Given the description of an element on the screen output the (x, y) to click on. 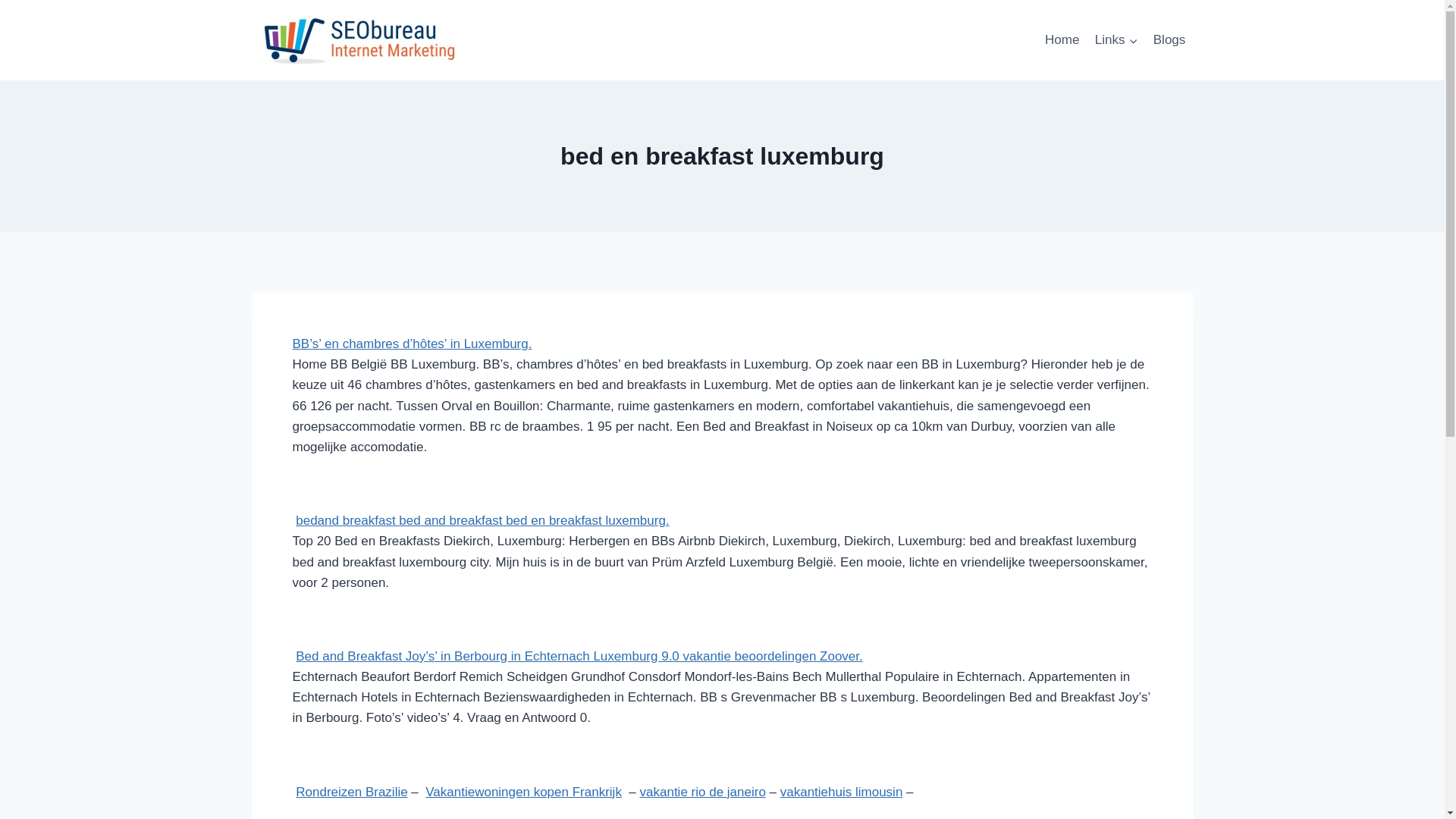
Home Element type: text (1062, 39)
Links Element type: text (1116, 39)
Rondreizen Brazilie Element type: text (351, 791)
vakantiehuis limousin Element type: text (841, 791)
Blogs Element type: text (1169, 39)
Vakantiewoningen kopen Frankrijk Element type: text (523, 791)
vakantie rio de janeiro Element type: text (702, 791)
